Given the description of an element on the screen output the (x, y) to click on. 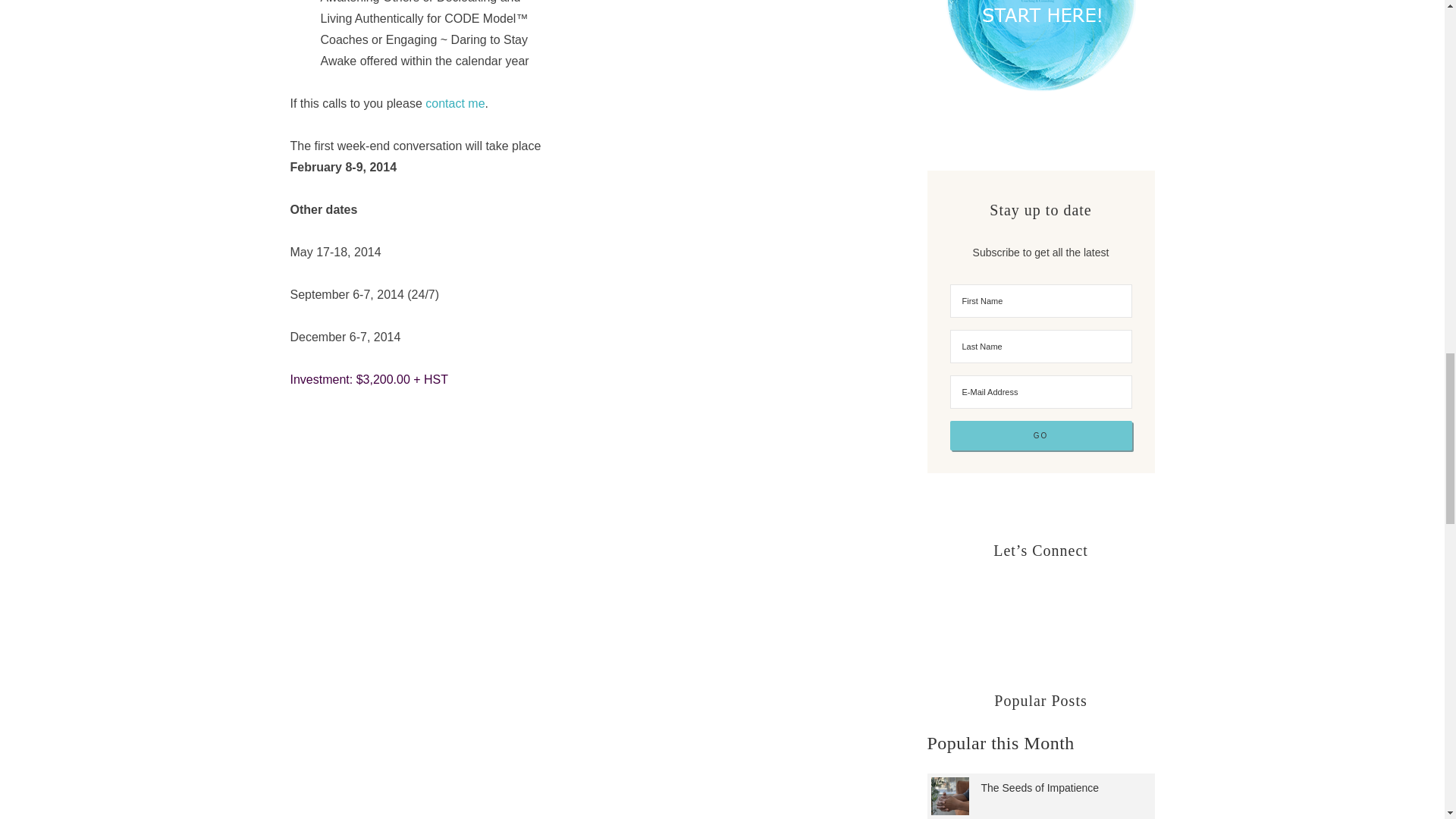
Contact Lisa (454, 103)
Go (1040, 435)
contact me (454, 103)
The Seeds of Impatience (1040, 787)
Go (1040, 435)
